Given the description of an element on the screen output the (x, y) to click on. 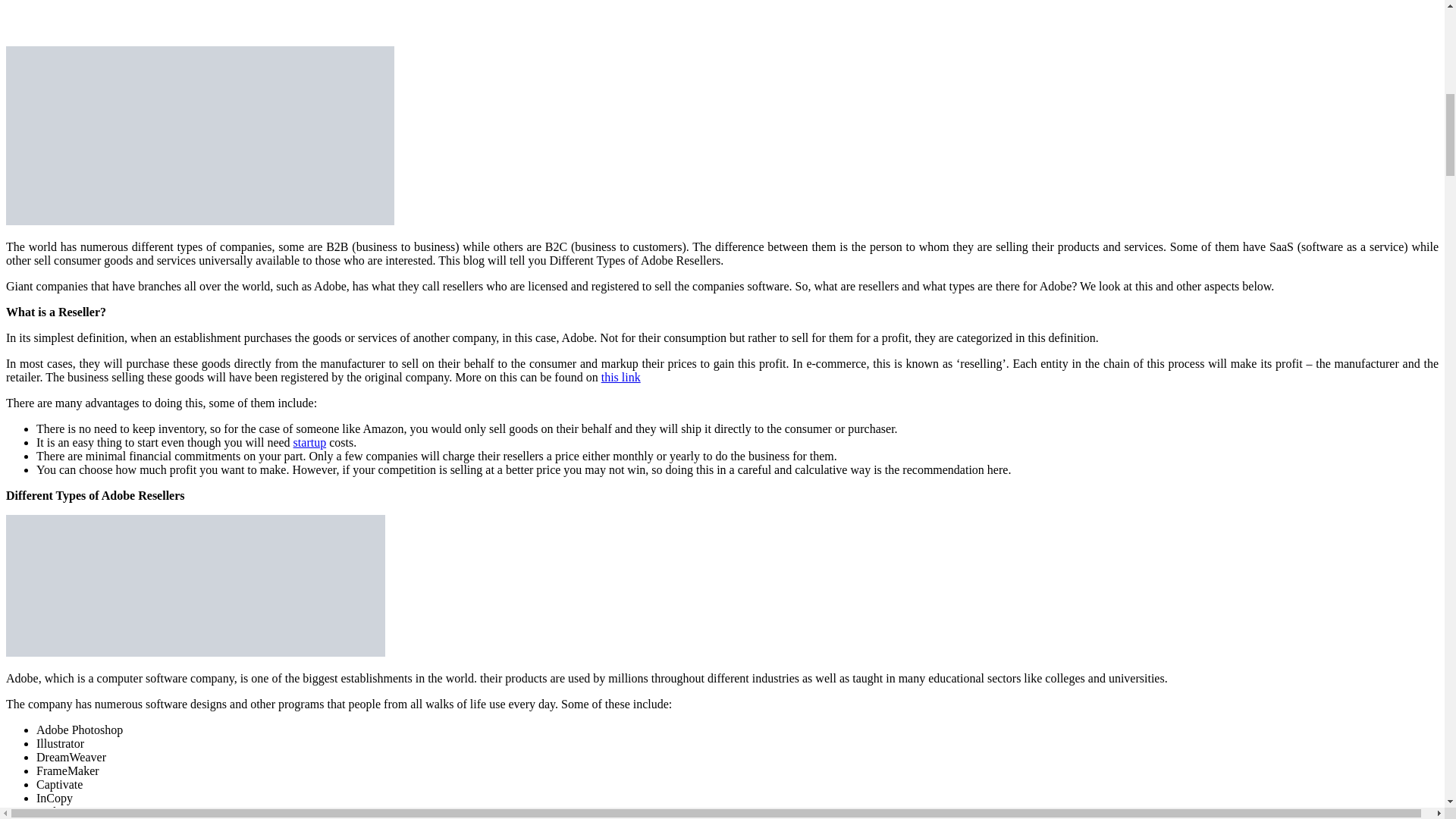
Adobe Resellers (199, 135)
